Given the description of an element on the screen output the (x, y) to click on. 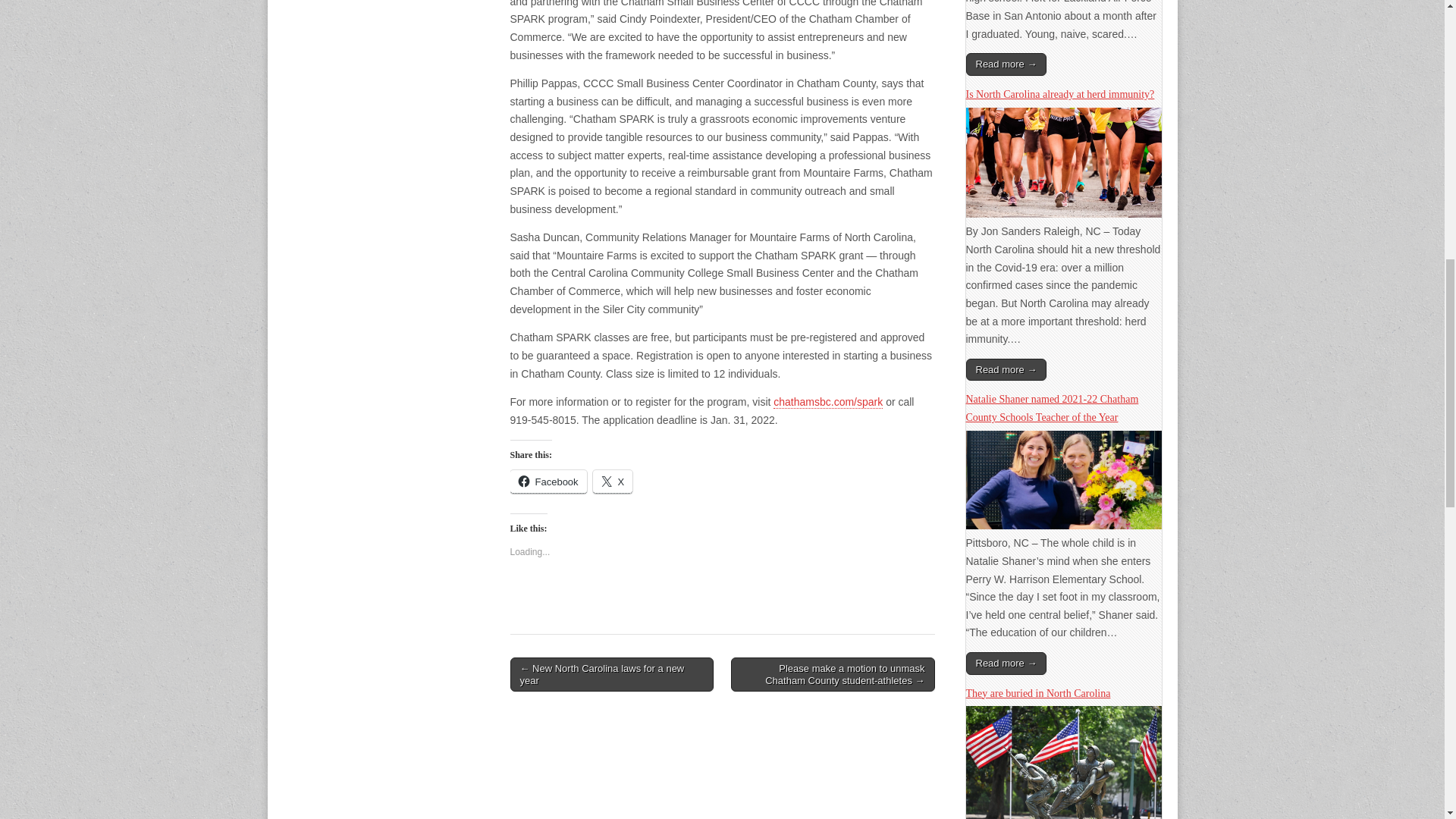
X (612, 481)
Click to share on X (612, 481)
Like or Reblog (721, 605)
Is North Carolina already at herd immunity? (1060, 93)
Click to share on Facebook (547, 481)
Facebook (547, 481)
Is North Carolina already at herd immunity? (1063, 214)
They are buried in North Carolina (1038, 693)
